Given the description of an element on the screen output the (x, y) to click on. 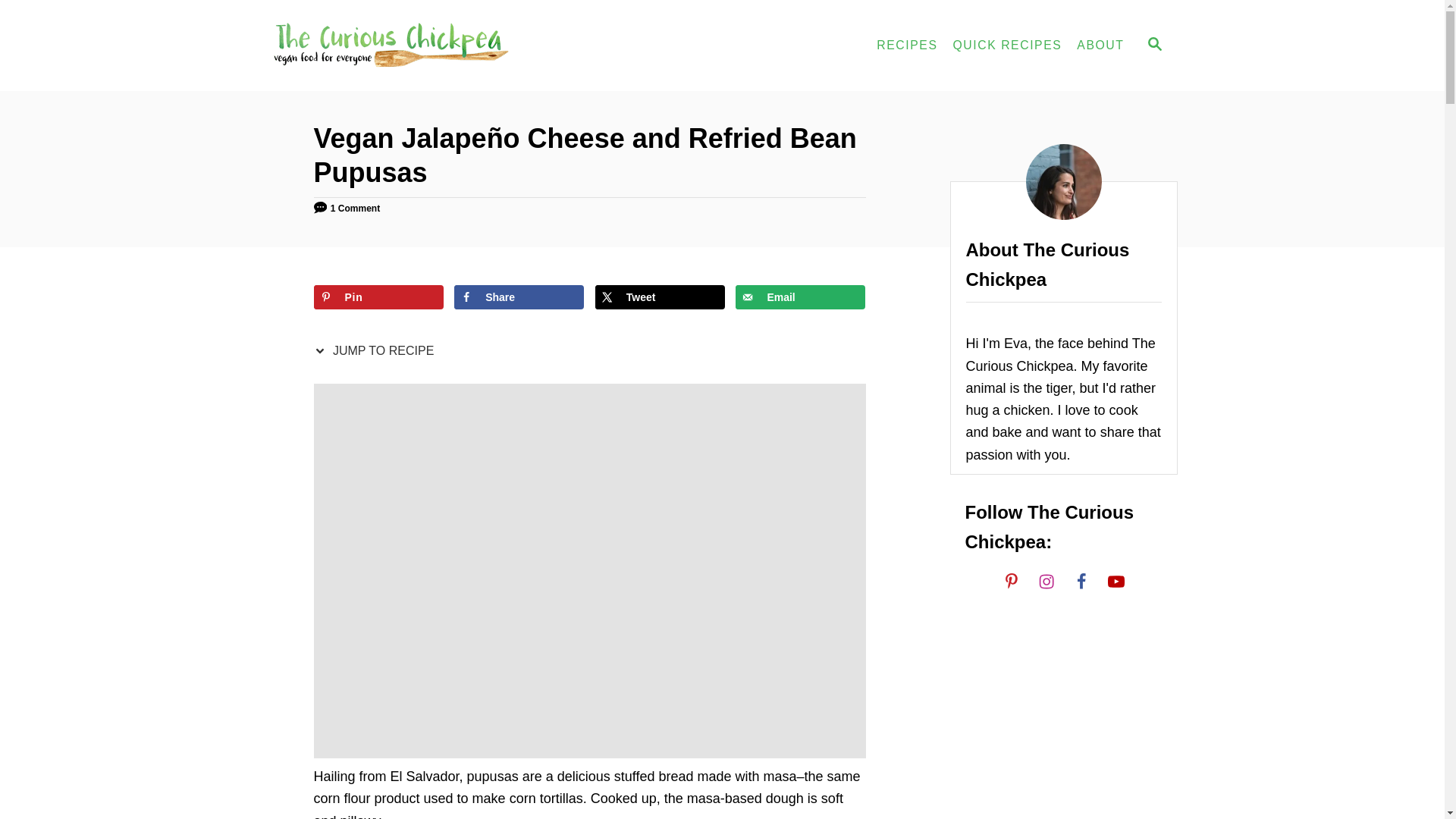
Follow on Instagram (1044, 581)
RECIPES (906, 45)
Follow on YouTube (1114, 581)
The Curious Chickpea (403, 45)
QUICK RECIPES (1006, 45)
Save to Pinterest (379, 297)
Tweet (660, 297)
ABOUT (1099, 45)
Pin (379, 297)
JUMP TO RECIPE (378, 350)
Email (799, 297)
Share on Facebook (518, 297)
Follow on Pinterest (1009, 581)
SEARCH (1153, 45)
Send over email (799, 297)
